Given the description of an element on the screen output the (x, y) to click on. 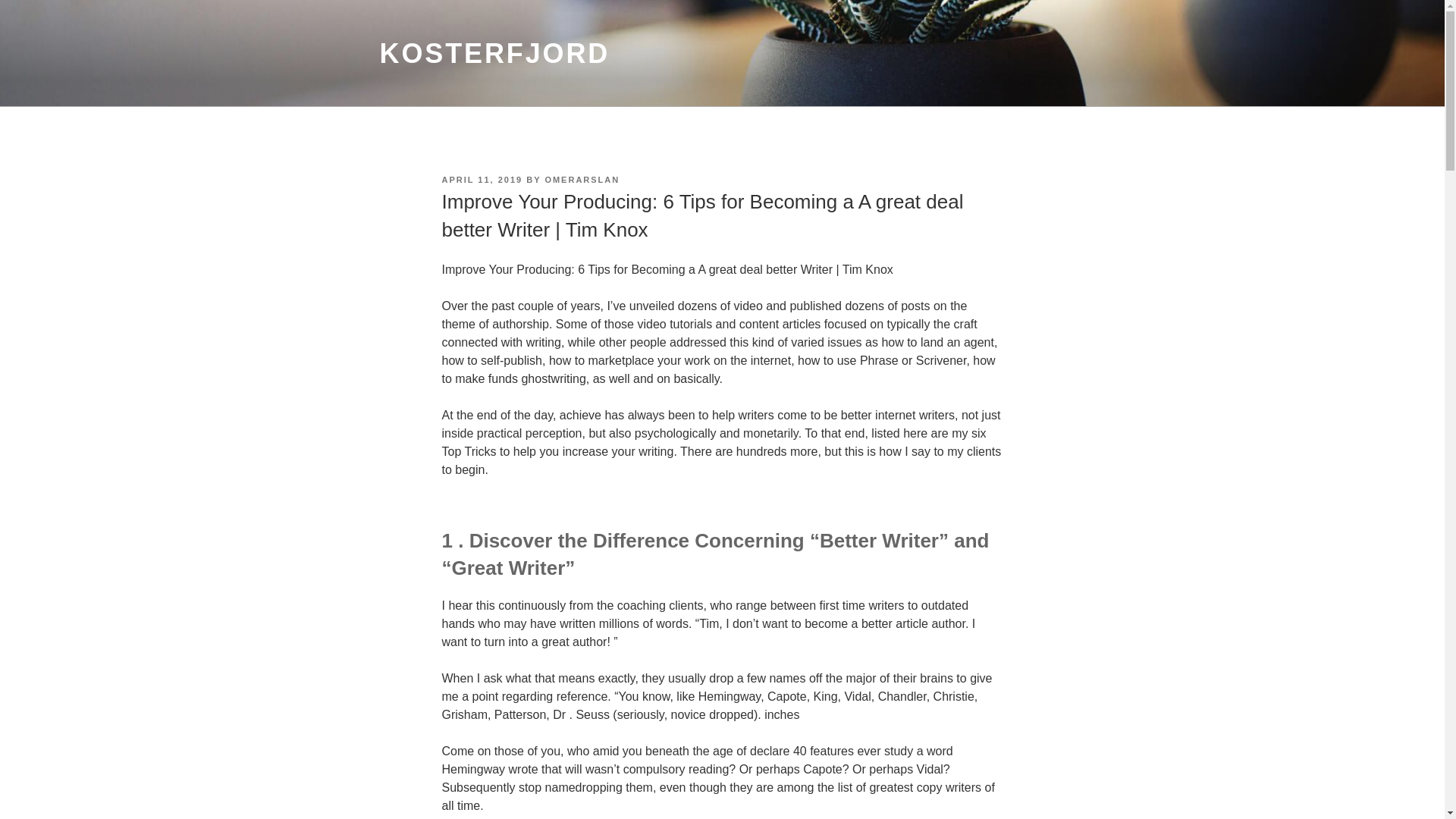
APRIL 11, 2019 (481, 179)
KOSTERFJORD (494, 52)
OMERARSLAN (582, 179)
